Given the description of an element on the screen output the (x, y) to click on. 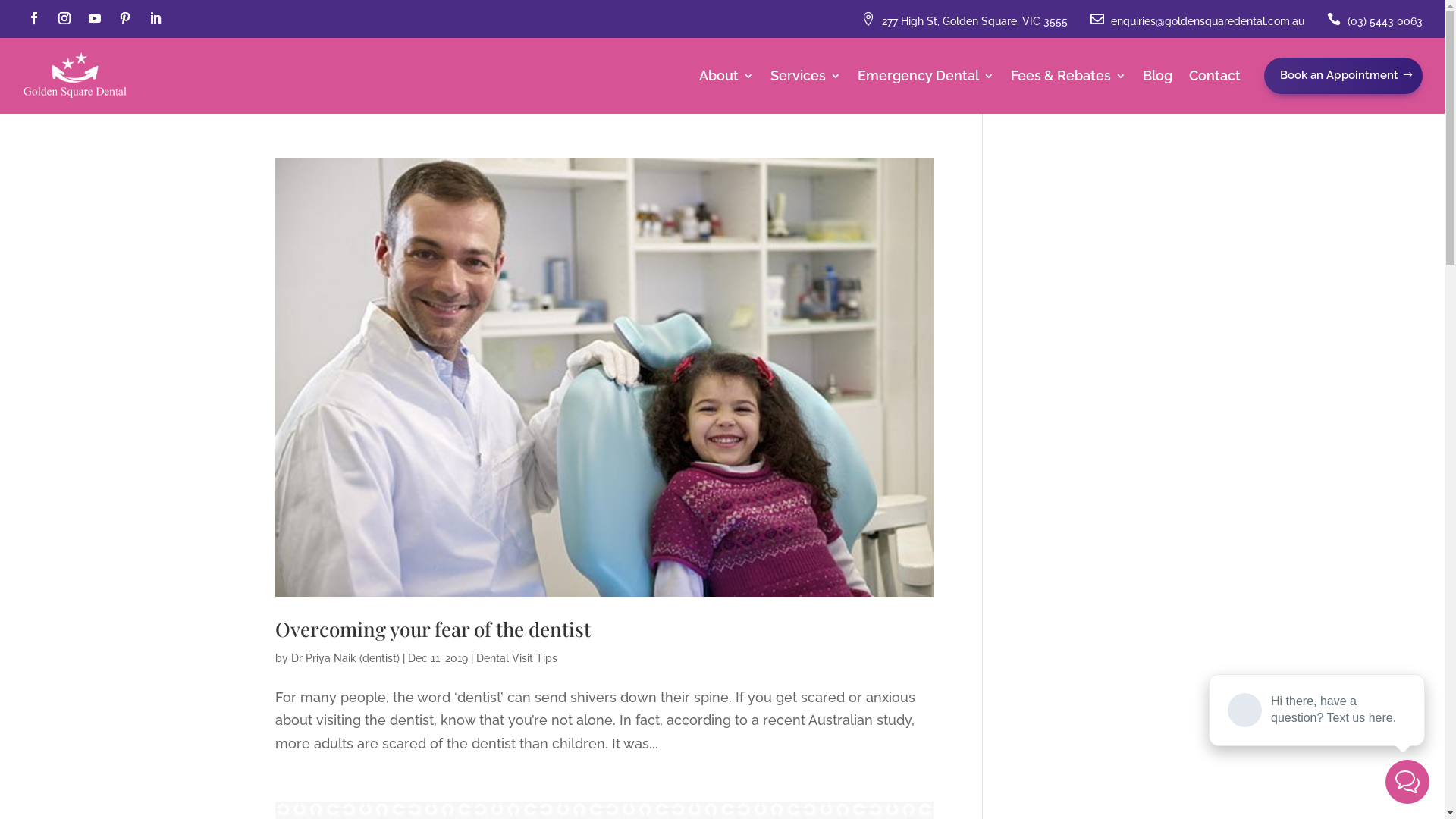
About Element type: text (726, 78)
Emergency Dental Element type: text (925, 78)
Follow on LinkedIn Element type: hover (155, 18)
Book an Appointment Element type: text (1343, 75)
Blog Element type: text (1157, 78)
Follow on Instagram Element type: hover (64, 18)
Contact Element type: text (1214, 78)
Fees & Rebates Element type: text (1068, 78)
enquiries@goldensquaredental.com.au Element type: text (1207, 21)
Overcoming your fear of the dentist Element type: text (431, 628)
(03) 5443 0063 Element type: text (1384, 21)
Follow on Facebook Element type: hover (33, 18)
Follow on Youtube Element type: hover (94, 18)
Follow on Pinterest Element type: hover (124, 18)
Dental Visit Tips Element type: text (516, 658)
Services Element type: text (805, 78)
Golden Square Dental Logo Element type: hover (74, 75)
Dr Priya Naik (dentist) Element type: text (345, 658)
